Given the description of an element on the screen output the (x, y) to click on. 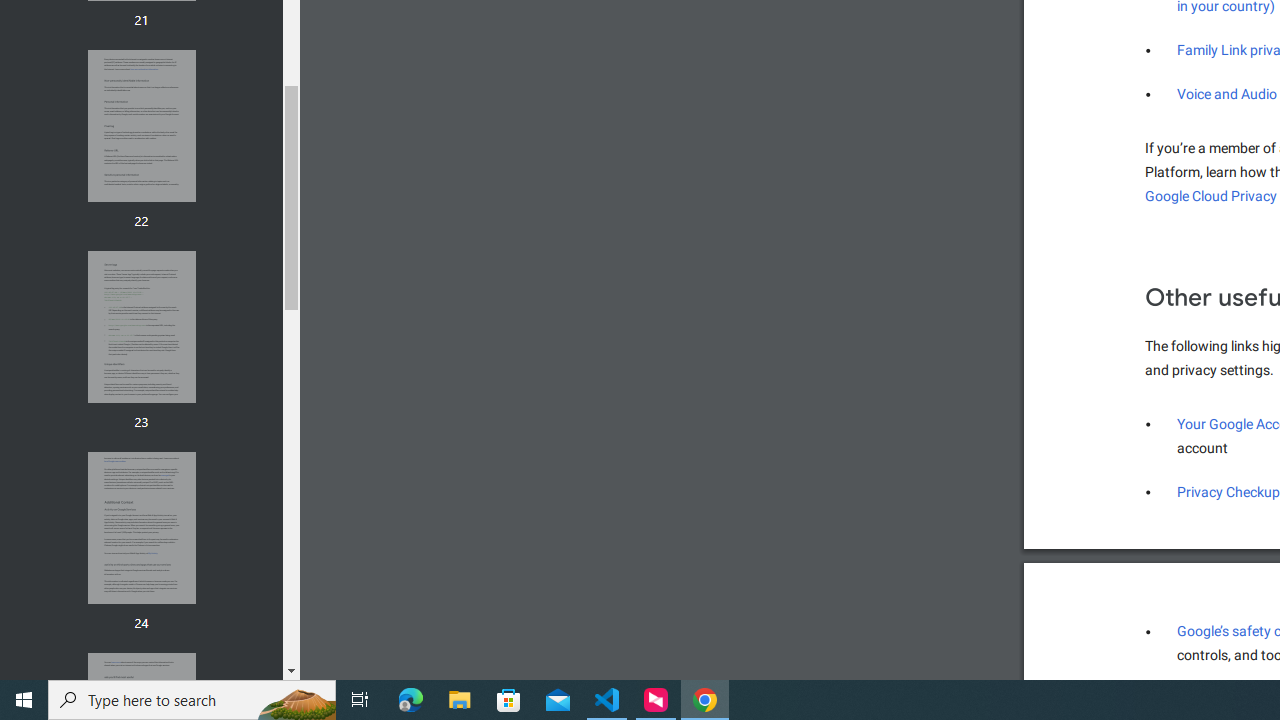
Thumbnail for page 23 (141, 326)
AutomationID: thumbnail (141, 528)
Thumbnail for page 22 (141, 125)
Thumbnail for page 24 (141, 528)
